Given the description of an element on the screen output the (x, y) to click on. 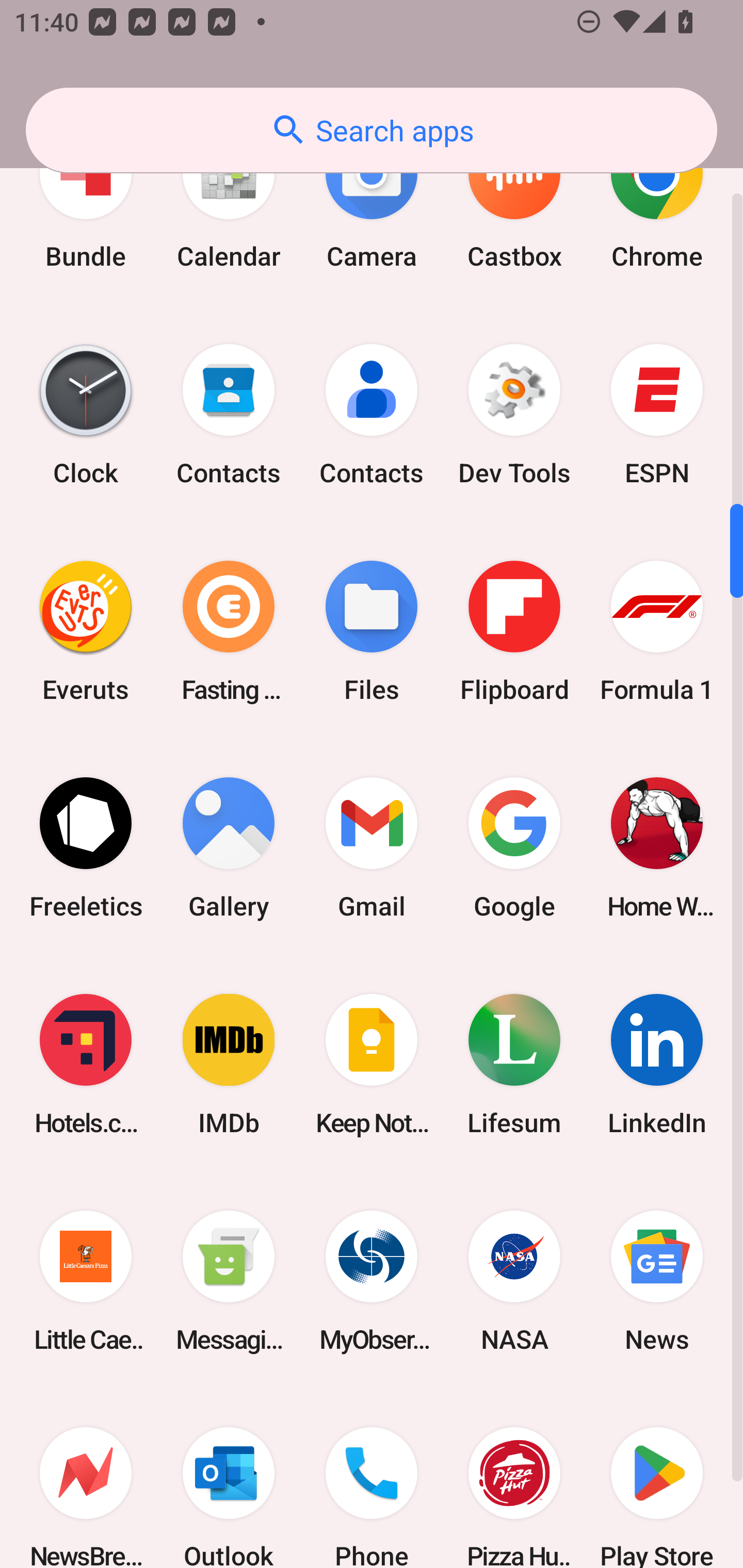
  Search apps (371, 130)
Bundle (85, 204)
Calendar (228, 204)
Camera (371, 204)
Castbox (514, 204)
Chrome (656, 204)
Clock (85, 414)
Contacts (228, 414)
Contacts (371, 414)
Dev Tools (514, 414)
ESPN (656, 414)
Everuts (85, 631)
Fasting Coach (228, 631)
Files (371, 631)
Flipboard (514, 631)
Formula 1 (656, 631)
Freeletics (85, 848)
Gallery (228, 848)
Gmail (371, 848)
Google (514, 848)
Home Workout (656, 848)
Hotels.com (85, 1064)
IMDb (228, 1064)
Keep Notes (371, 1064)
Lifesum (514, 1064)
LinkedIn (656, 1064)
Little Caesars Pizza (85, 1280)
Messaging (228, 1280)
MyObservatory (371, 1280)
NASA (514, 1280)
News (656, 1280)
NewsBreak (85, 1478)
Outlook (228, 1478)
Phone (371, 1478)
Pizza Hut HK & Macau (514, 1478)
Play Store (656, 1478)
